Given the description of an element on the screen output the (x, y) to click on. 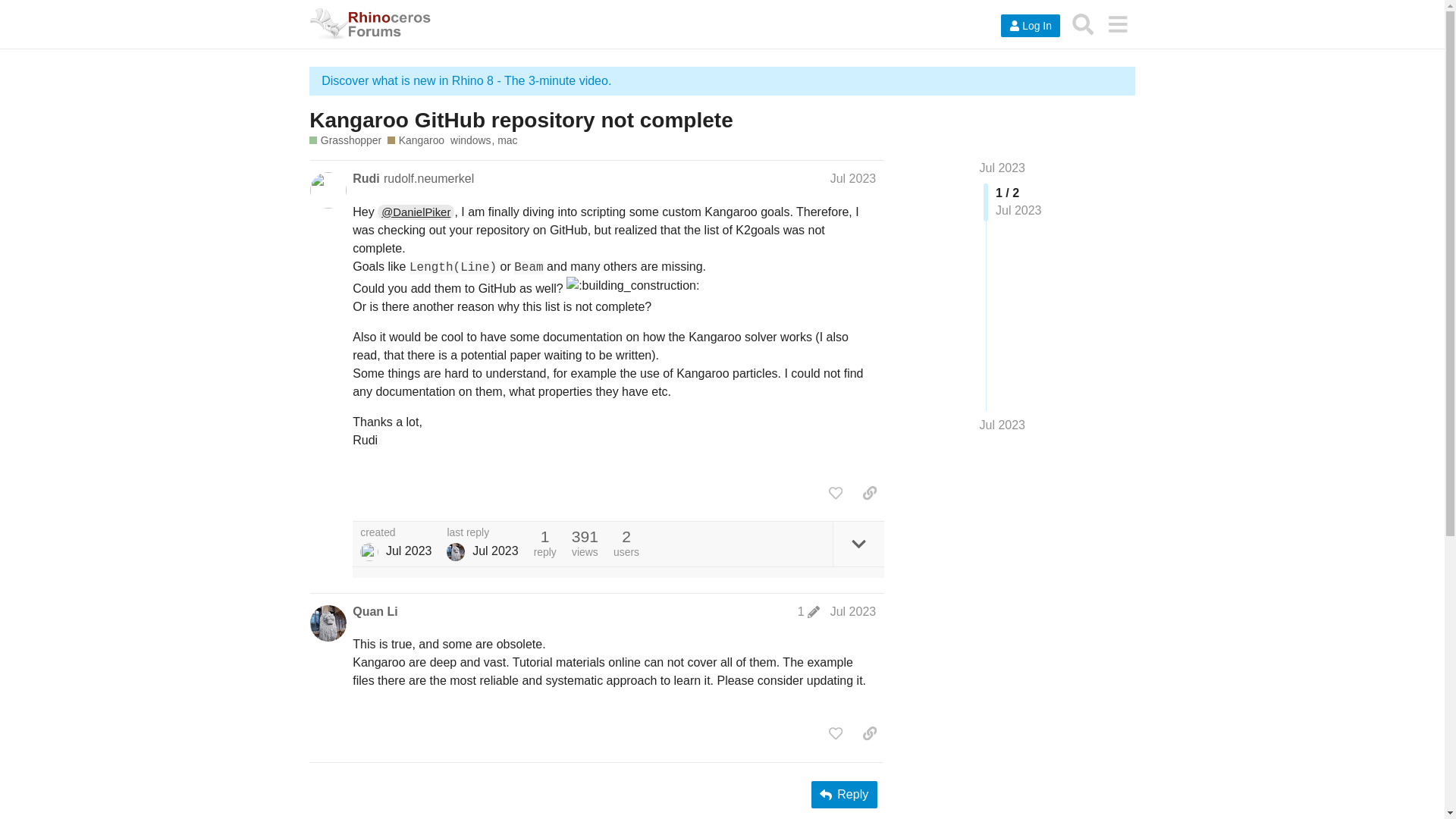
Grasshopper (344, 140)
Reply (843, 794)
menu (1117, 23)
Kangaroo GitHub repository not complete (520, 119)
windows (473, 140)
expand topic details (857, 543)
Post date (852, 178)
like this post (835, 492)
Quan Li (374, 611)
rudolf.neumerkel (429, 178)
Rudi (368, 551)
Jul 2023 (852, 611)
Jul 19, 2023 6:13 am (408, 550)
Jul 2023 (1002, 167)
Jul 2023 (852, 178)
